Given the description of an element on the screen output the (x, y) to click on. 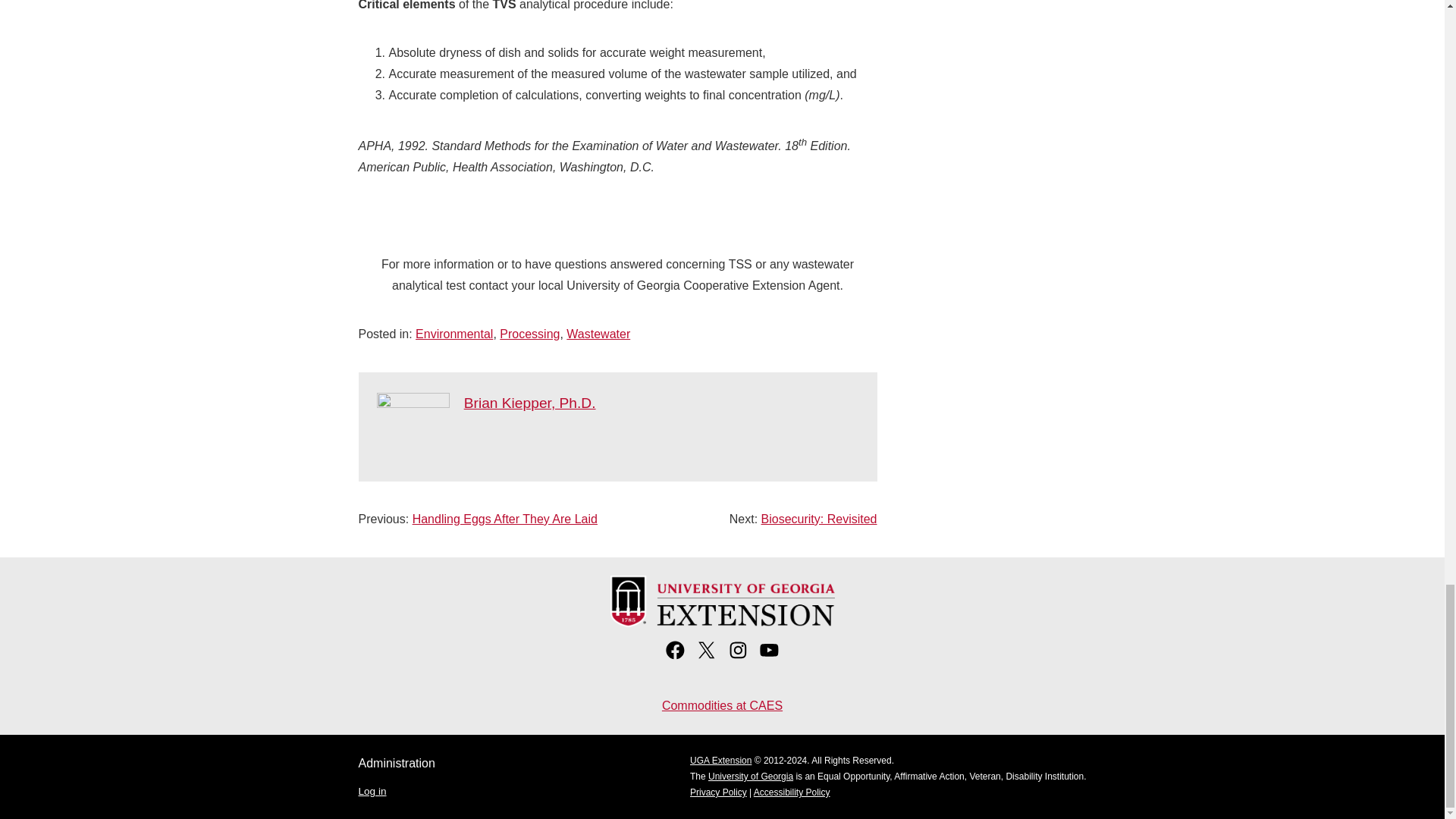
Wastewater (598, 333)
Handling Eggs After They Are Laid (504, 518)
Brian Kiepper, Ph.D. (529, 402)
Biosecurity: Revisited (819, 518)
Processing (529, 333)
Environmental (453, 333)
